Given the description of an element on the screen output the (x, y) to click on. 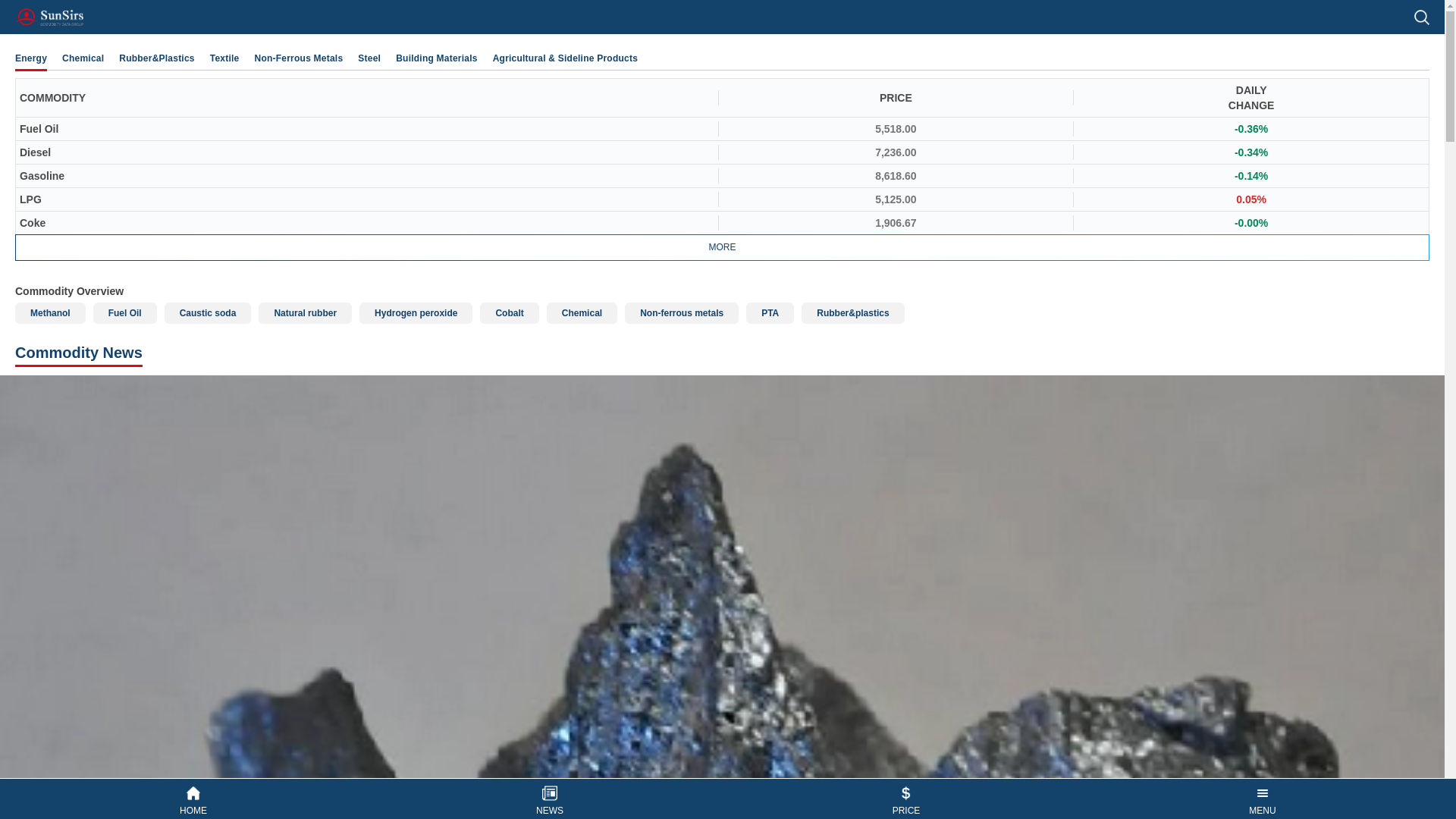
Textile (224, 58)
Energy (30, 58)
Natural rubber (305, 312)
MORE (722, 247)
Caustic soda (207, 312)
Chemical (582, 312)
Cobalt (509, 312)
Non-Ferrous Metals (298, 58)
Hydrogen peroxide (415, 312)
Chemical (82, 58)
Non-ferrous metals (681, 312)
Steel (369, 58)
Building Materials (436, 58)
Methanol (49, 312)
Fuel Oil (125, 312)
